Given the description of an element on the screen output the (x, y) to click on. 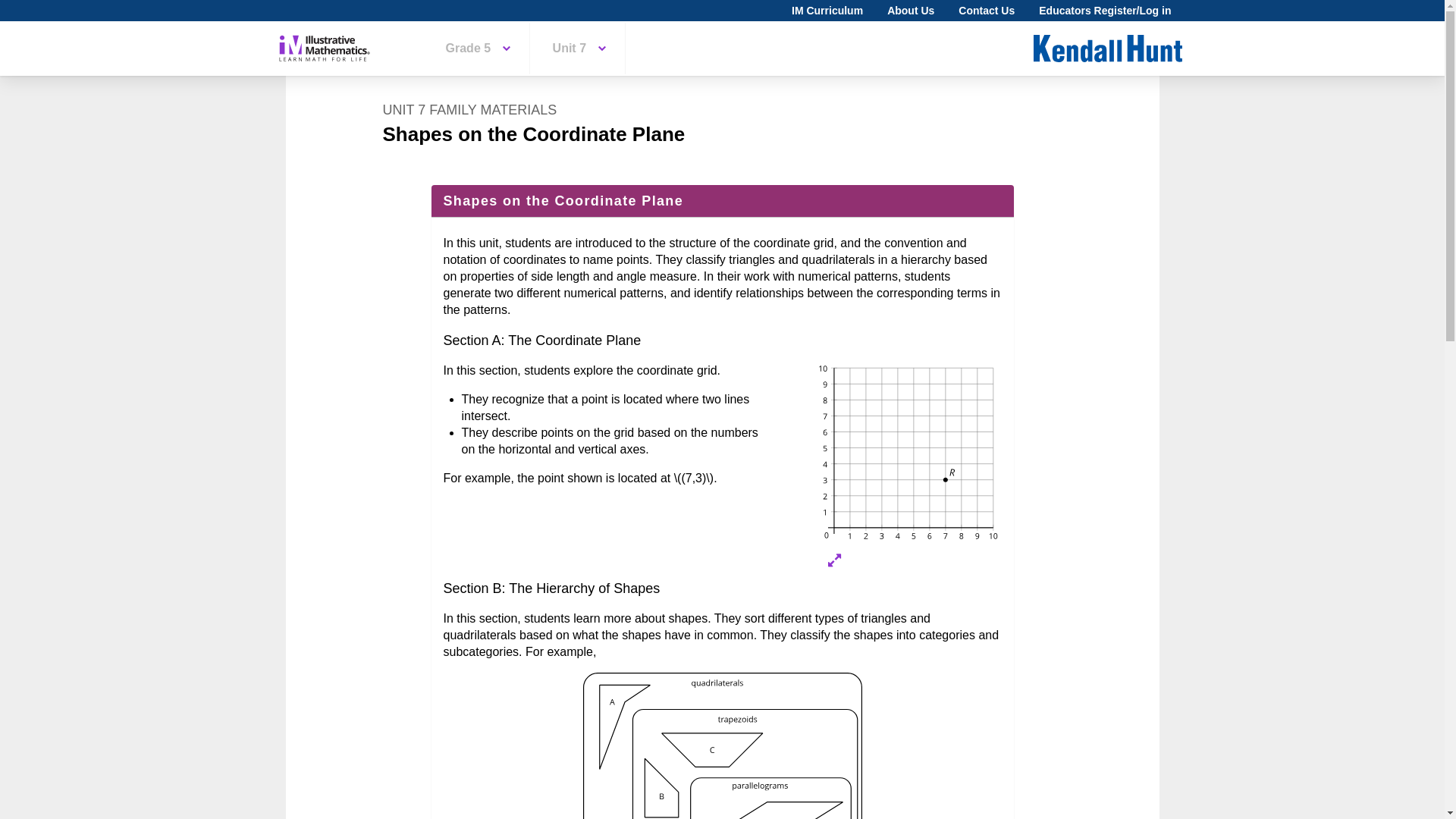
Grade 5 (477, 48)
IM Curriculum (826, 10)
Unit 7 (579, 48)
Contact Us (986, 10)
Expand image (834, 560)
About Us (910, 10)
